Given the description of an element on the screen output the (x, y) to click on. 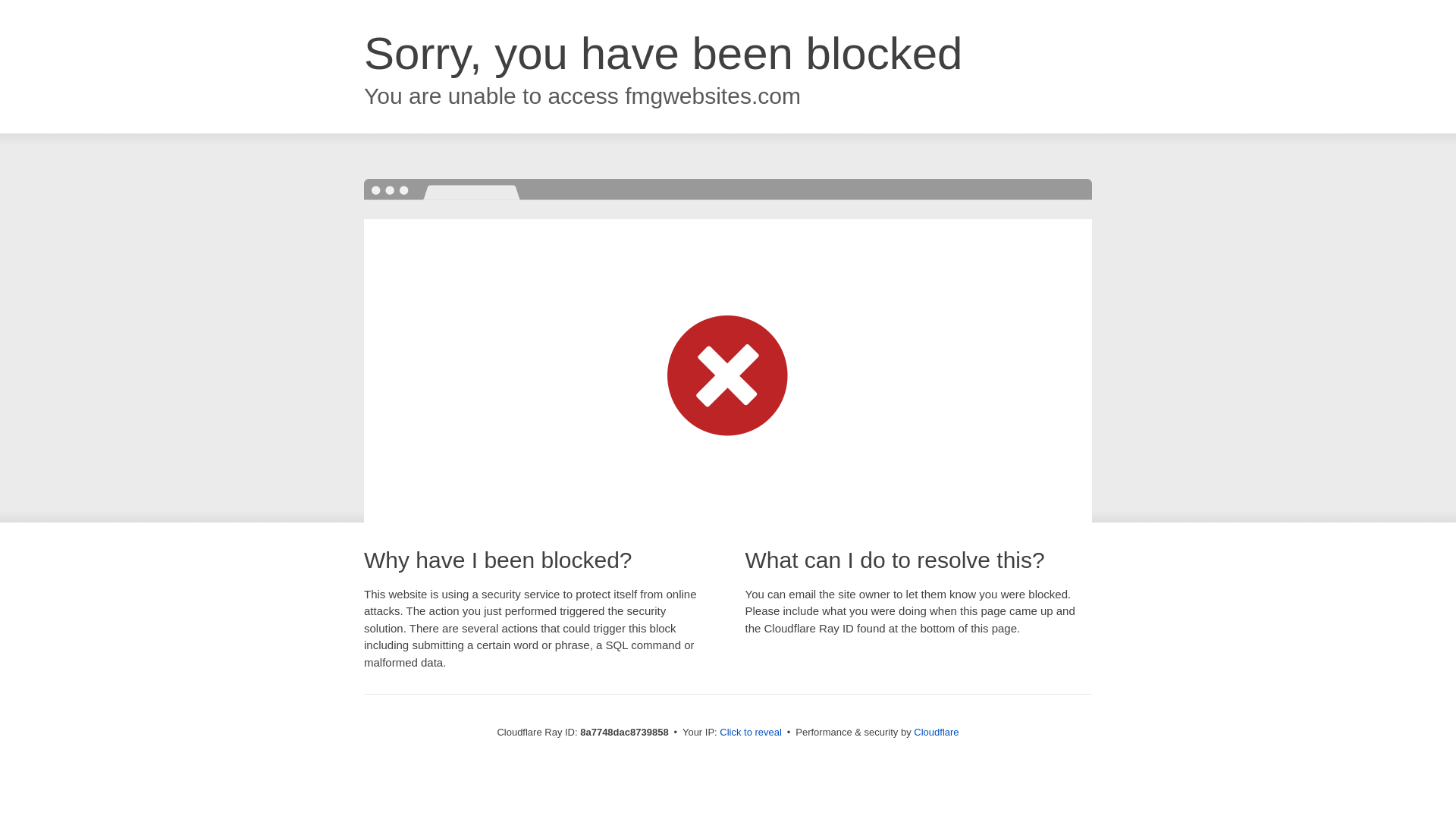
Cloudflare (936, 731)
Click to reveal (750, 732)
